Given the description of an element on the screen output the (x, y) to click on. 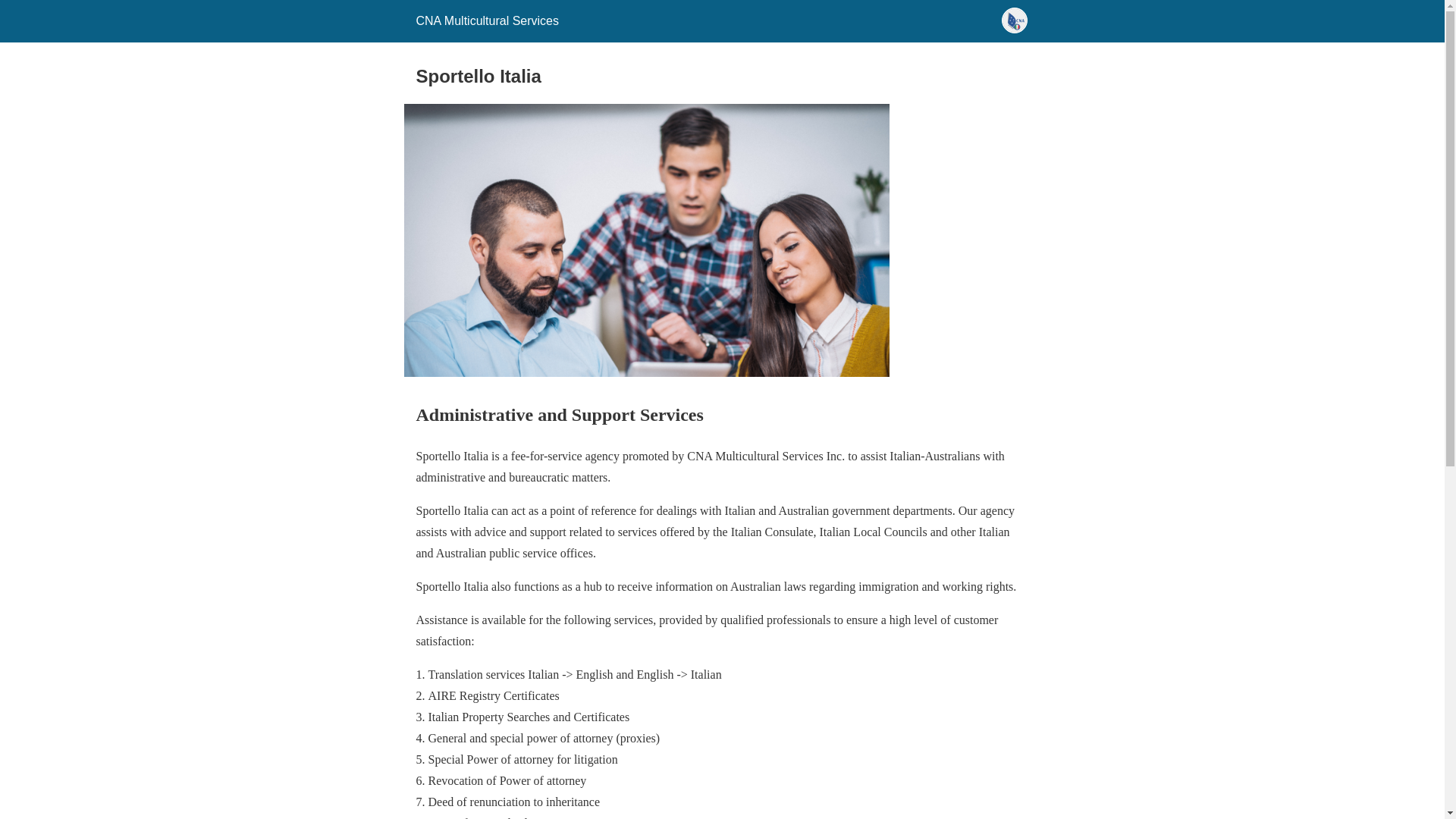
CNA Multicultural Services Element type: text (486, 20)
